Given the description of an element on the screen output the (x, y) to click on. 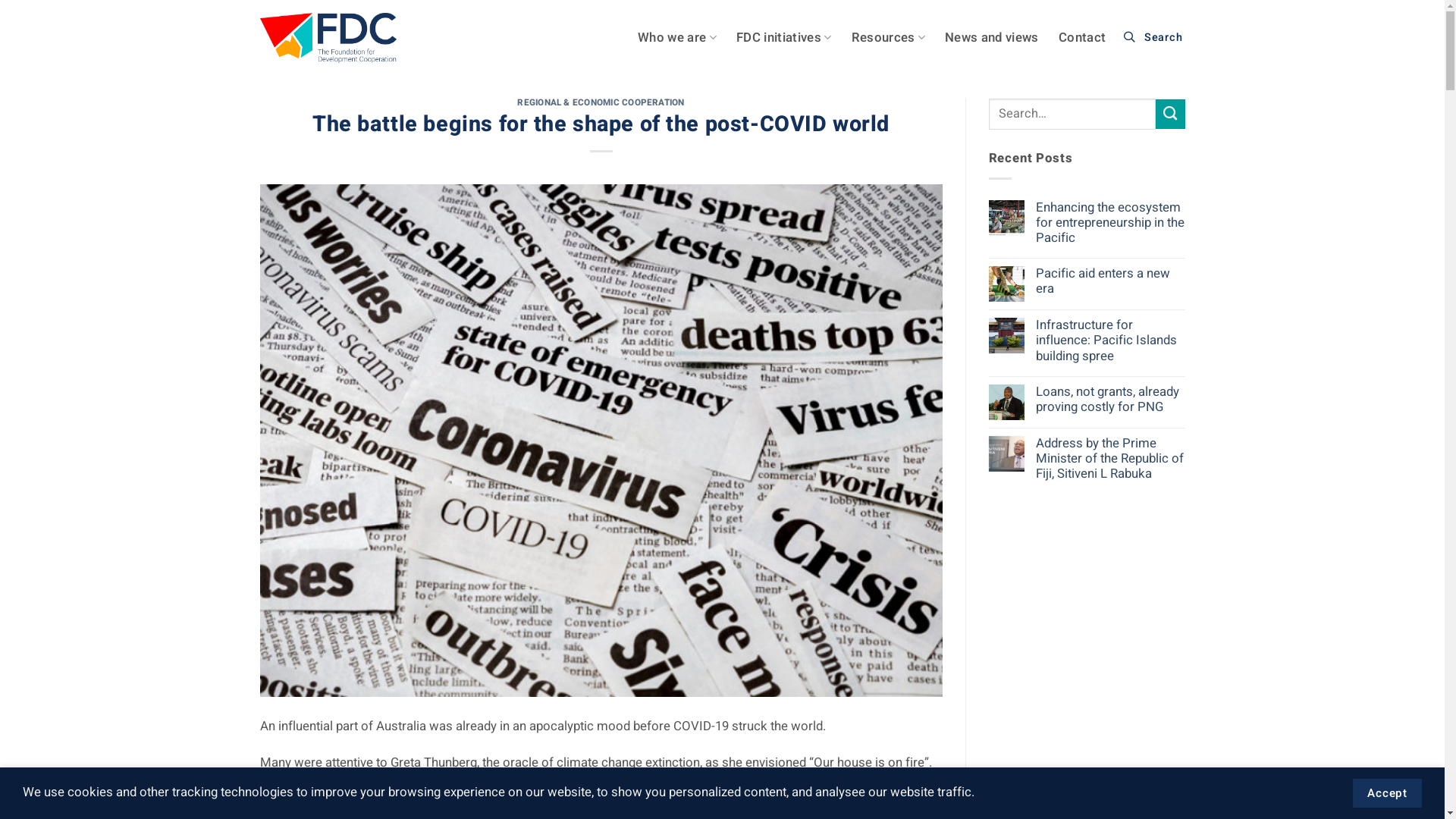
Resources Element type: text (888, 37)
Loans, not grants, already proving costly for PNG Element type: text (1110, 399)
Search Element type: text (1154, 37)
News and views Element type: text (991, 37)
Enhancing the ecosystem for entrepreneurship in the Pacific Element type: text (1110, 222)
FDC initiatives Element type: text (783, 37)
Infrastructure for influence: Pacific Islands building spree Element type: text (1110, 340)
Accept Element type: text (1386, 792)
Who we are Element type: text (676, 37)
Skip to content Element type: text (0, 0)
Foundation for Development Cooperation Element type: hover (327, 37)
REGIONAL & ECONOMIC COOPERATION Element type: text (600, 102)
Pacific aid enters a new era Element type: text (1110, 281)
Contact Element type: text (1081, 37)
